Given the description of an element on the screen output the (x, y) to click on. 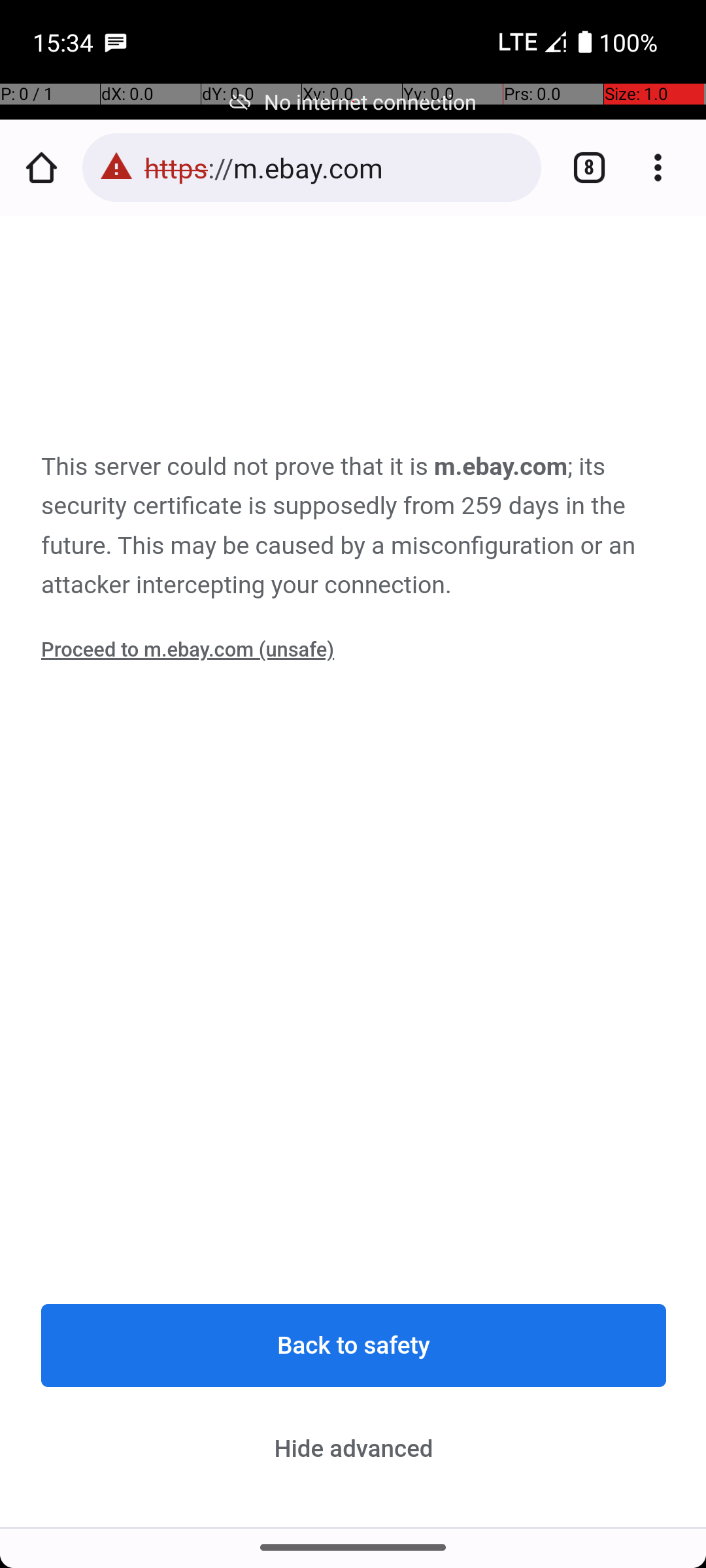
https://m.ebay.com Element type: android.widget.EditText (335, 167)
Hide advanced Element type: android.widget.Button (354, 1448)
This server could not prove that it is m.ebay.com; its security certificate is supposedly from 259 days in the future. This may be caused by a misconfiguration or an attacker intercepting your connection. Element type: android.widget.TextView (354, 526)
Proceed to m.ebay.com (unsafe) Element type: android.view.View (188, 650)
